Given the description of an element on the screen output the (x, y) to click on. 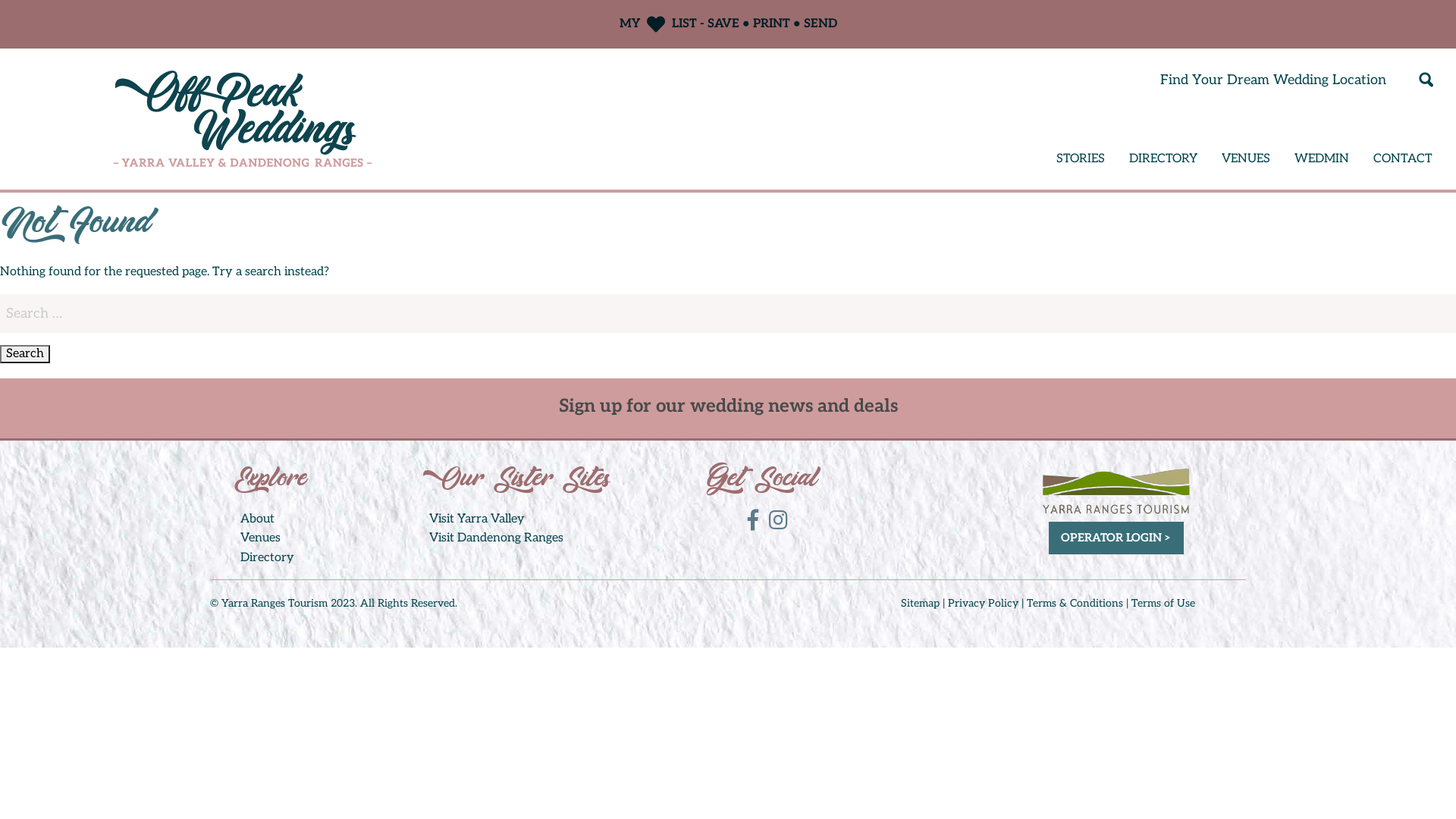
Home Element type: hover (242, 118)
Find Your Dream Wedding Location Element type: text (1273, 79)
Privacy Policy Element type: text (982, 602)
DIRECTORY Element type: text (1163, 159)
Facebook - Off Peak Weddings Element type: text (756, 519)
Visit Yarra Valley Element type: text (476, 518)
Terms & Conditions Element type: text (1074, 602)
Sitemap Element type: text (919, 602)
Search Element type: text (25, 354)
Visit Dandenong Ranges Element type: text (496, 537)
Instagram - offpeakweddings Element type: text (781, 519)
STORIES Element type: text (1080, 159)
VENUES Element type: text (1245, 159)
OPERATOR LOGIN > Element type: text (1115, 537)
Directory Element type: text (267, 557)
About Element type: text (257, 518)
WEDMIN Element type: text (1321, 159)
Venues Element type: text (260, 537)
CONTACT Element type: text (1402, 159)
Terms of Use Element type: text (1163, 602)
